Given the description of an element on the screen output the (x, y) to click on. 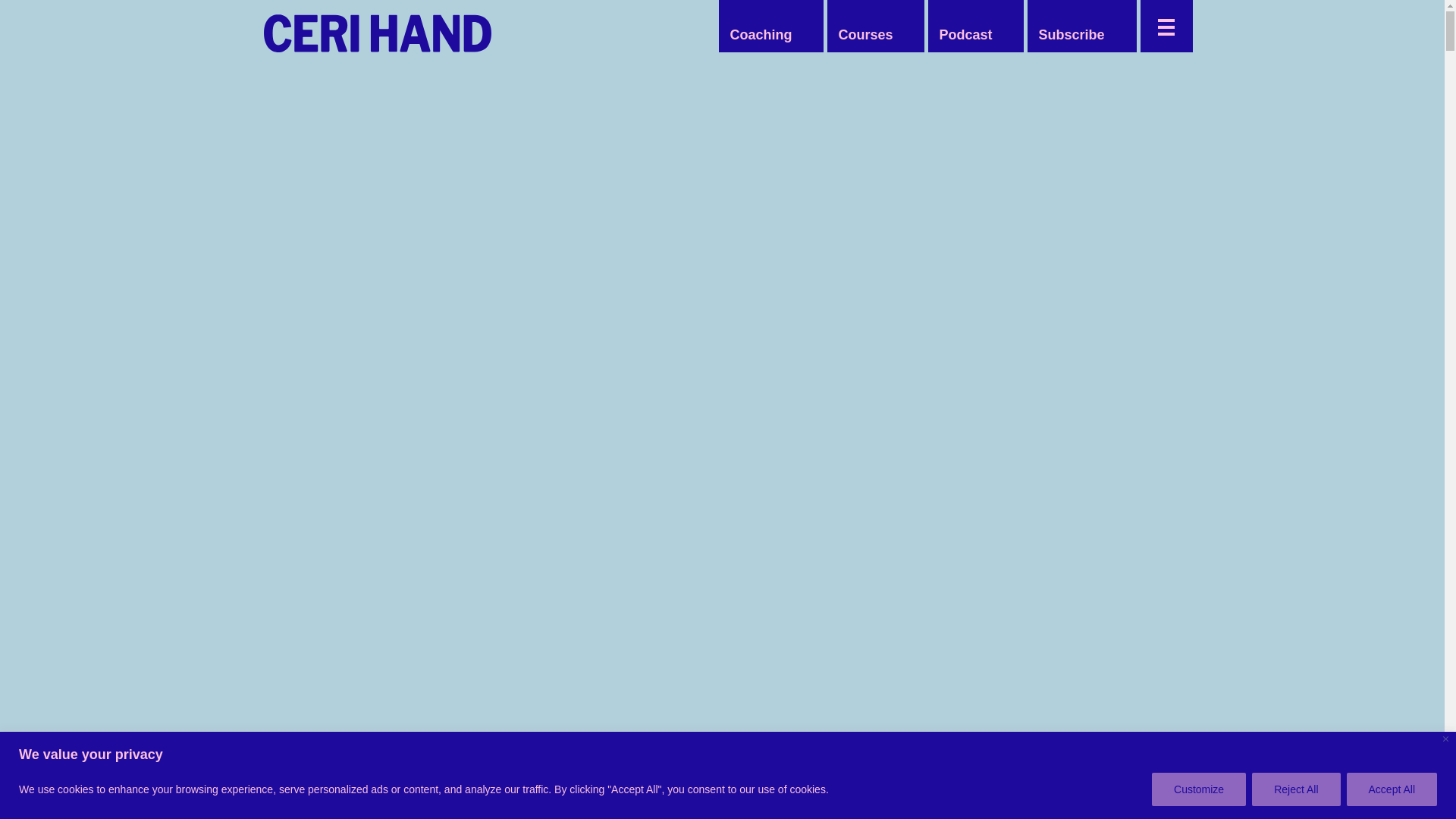
Courses (864, 34)
Accept All (1391, 788)
Reject All (1295, 788)
Podcast (964, 34)
Coaching (760, 34)
Customize (1198, 788)
Subscribe (1070, 34)
